Given the description of an element on the screen output the (x, y) to click on. 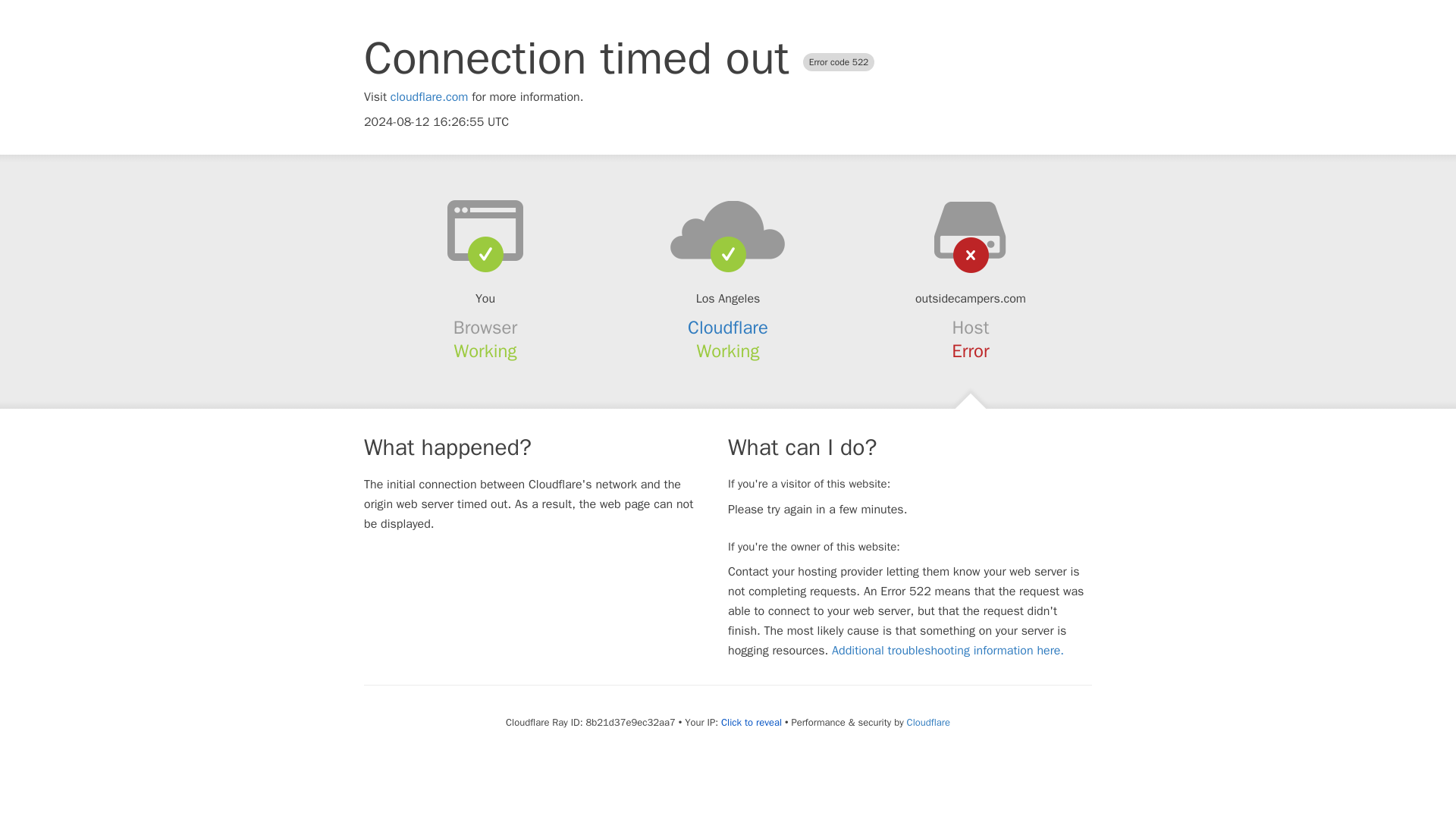
Cloudflare (727, 327)
Cloudflare (928, 721)
Click to reveal (750, 722)
cloudflare.com (429, 96)
Additional troubleshooting information here. (947, 650)
